Given the description of an element on the screen output the (x, y) to click on. 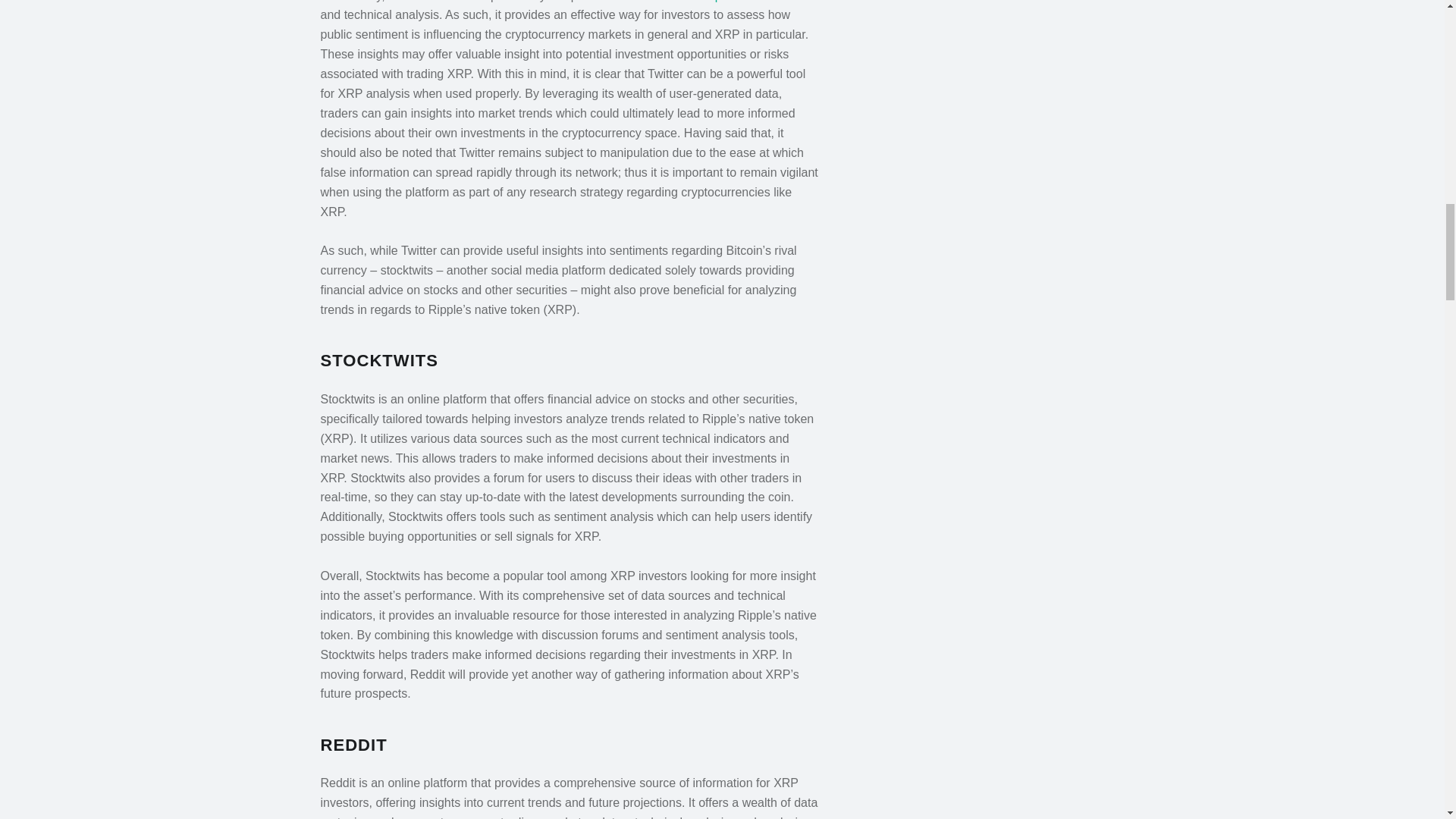
XRP price (714, 1)
XRP price (714, 1)
